Given the description of an element on the screen output the (x, y) to click on. 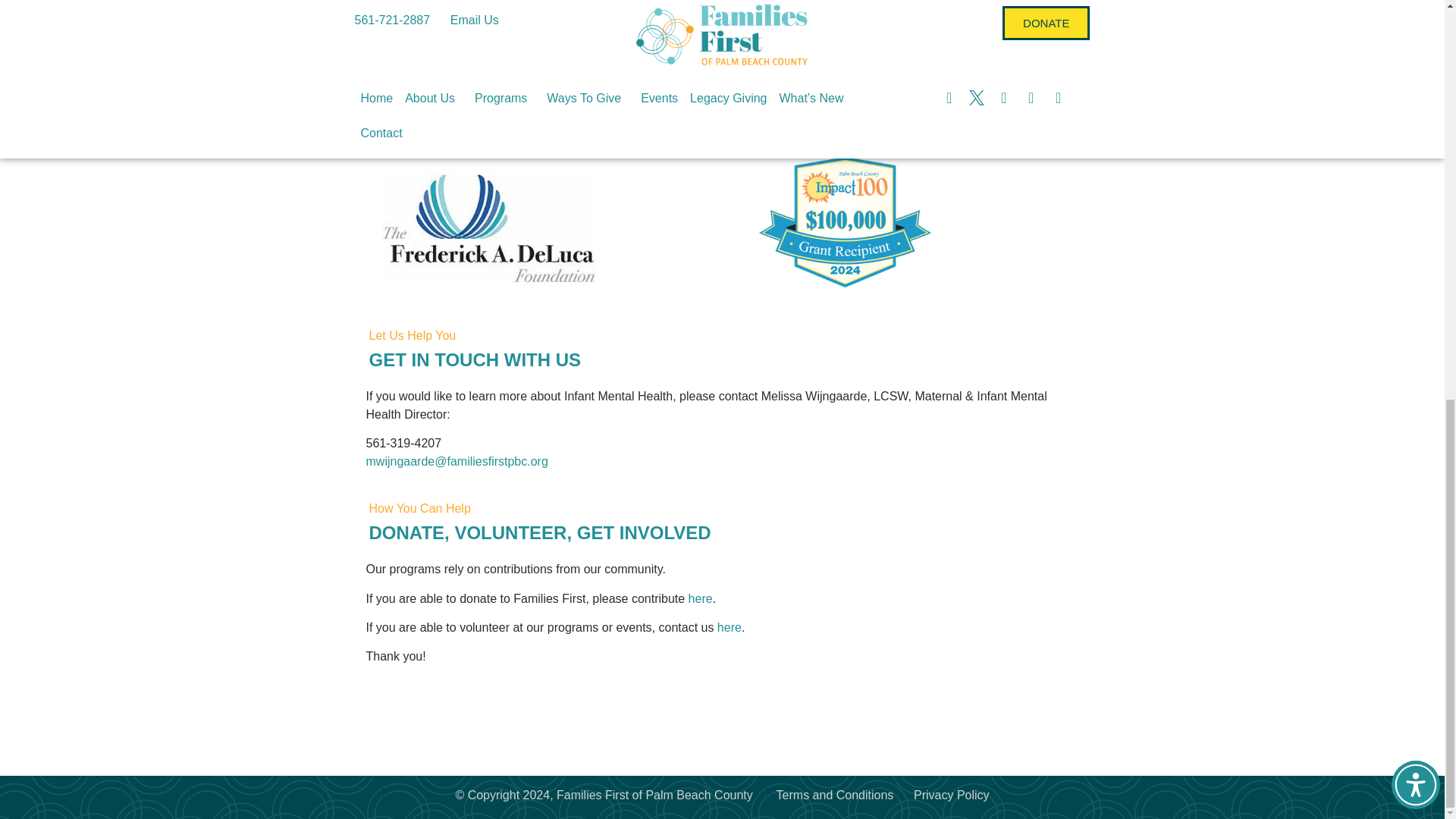
P  (721, 428)
Accessibility Menu (1415, 15)
P  (721, 612)
